Given the description of an element on the screen output the (x, y) to click on. 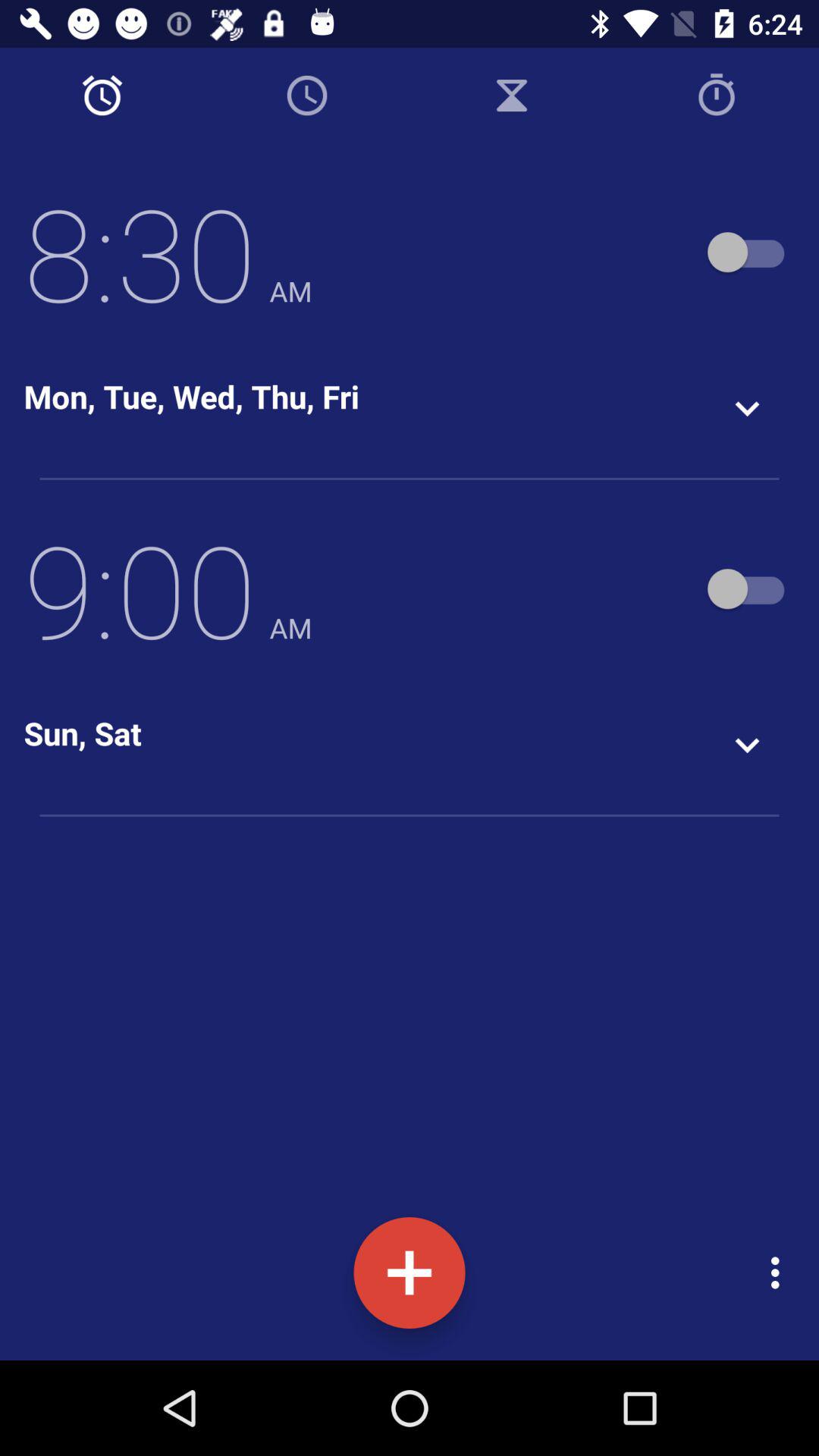
open the item above the mon tue wed (167, 251)
